Given the description of an element on the screen output the (x, y) to click on. 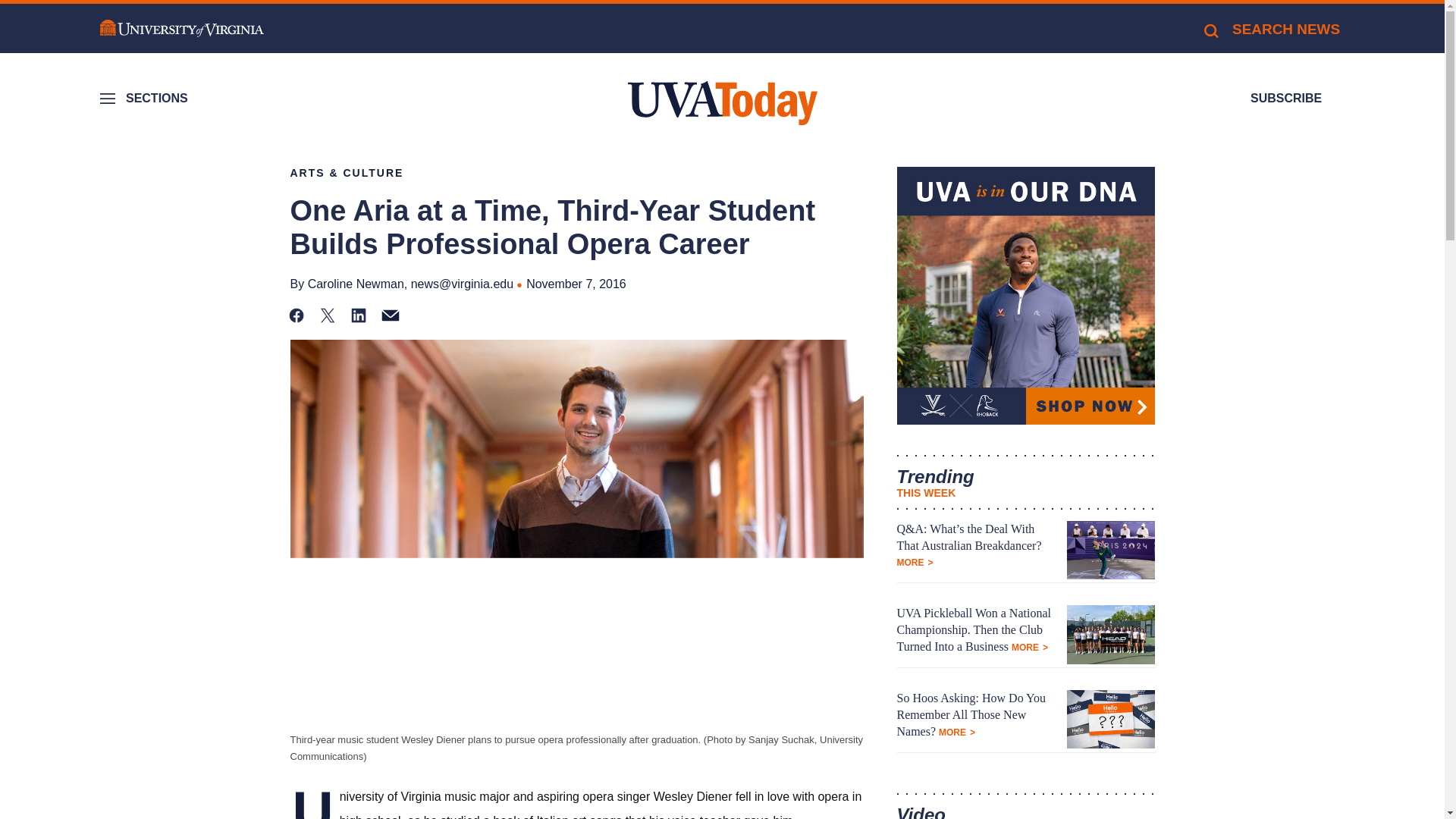
University of Virginia Logo (181, 28)
Home (721, 103)
Caroline Newman (355, 283)
University of Virgina Licensed Collection (1025, 296)
SUBSCRIBE (1286, 98)
SECTIONS (145, 98)
SEARCH NEWS (1270, 28)
MORE (914, 562)
